Given the description of an element on the screen output the (x, y) to click on. 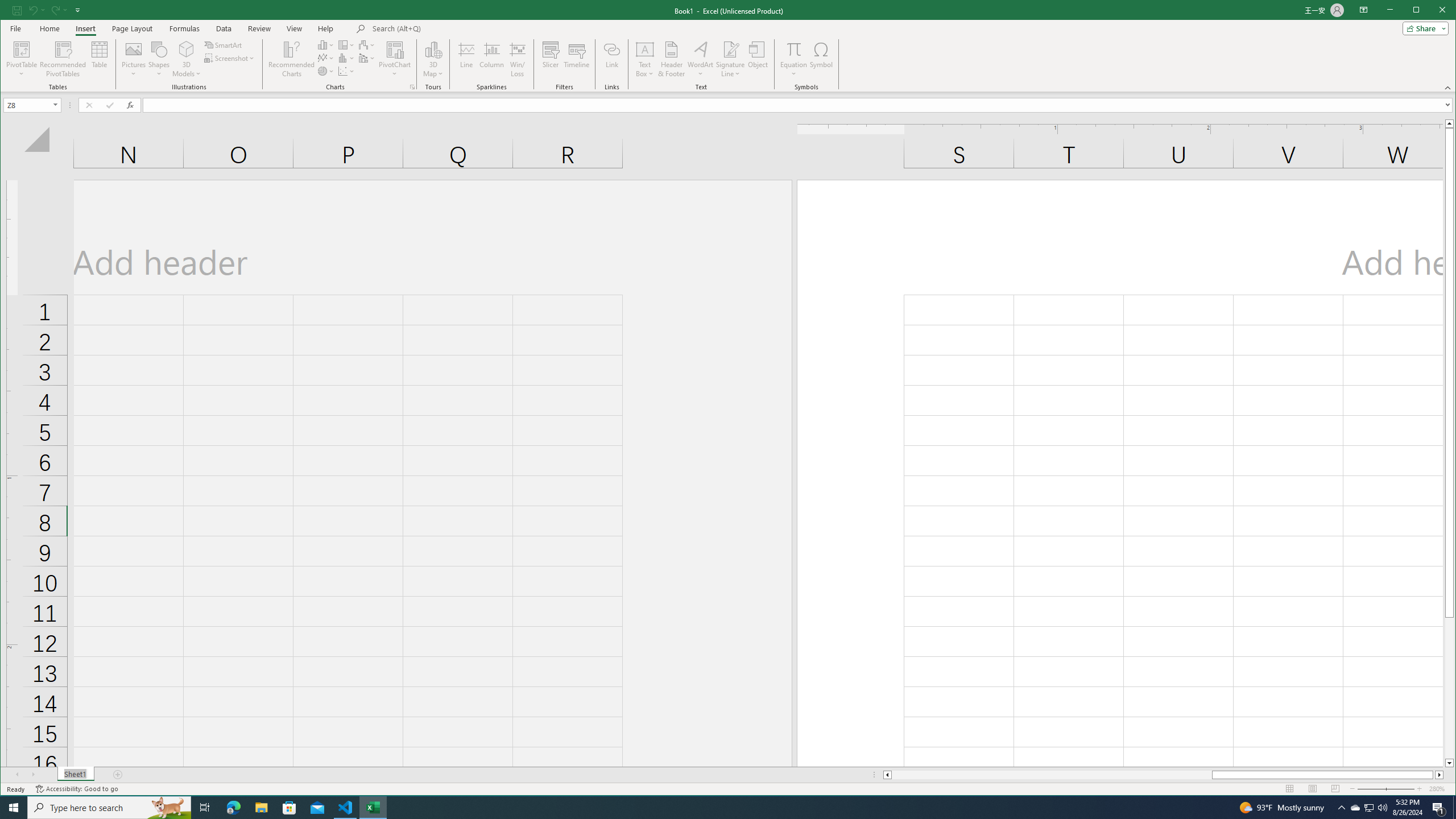
3D Models (186, 59)
Sheet1 (75, 774)
Page Layout (1312, 788)
3D Map (432, 48)
Zoom In (1419, 788)
View (294, 28)
Signature Line (729, 59)
Class: NetUIScrollBar (1163, 774)
Show desktop (1454, 807)
User Promoted Notification Area (1368, 807)
Minimize (1419, 11)
Help (325, 28)
Close (1444, 11)
Data (223, 28)
Scroll Right (34, 774)
